Given the description of an element on the screen output the (x, y) to click on. 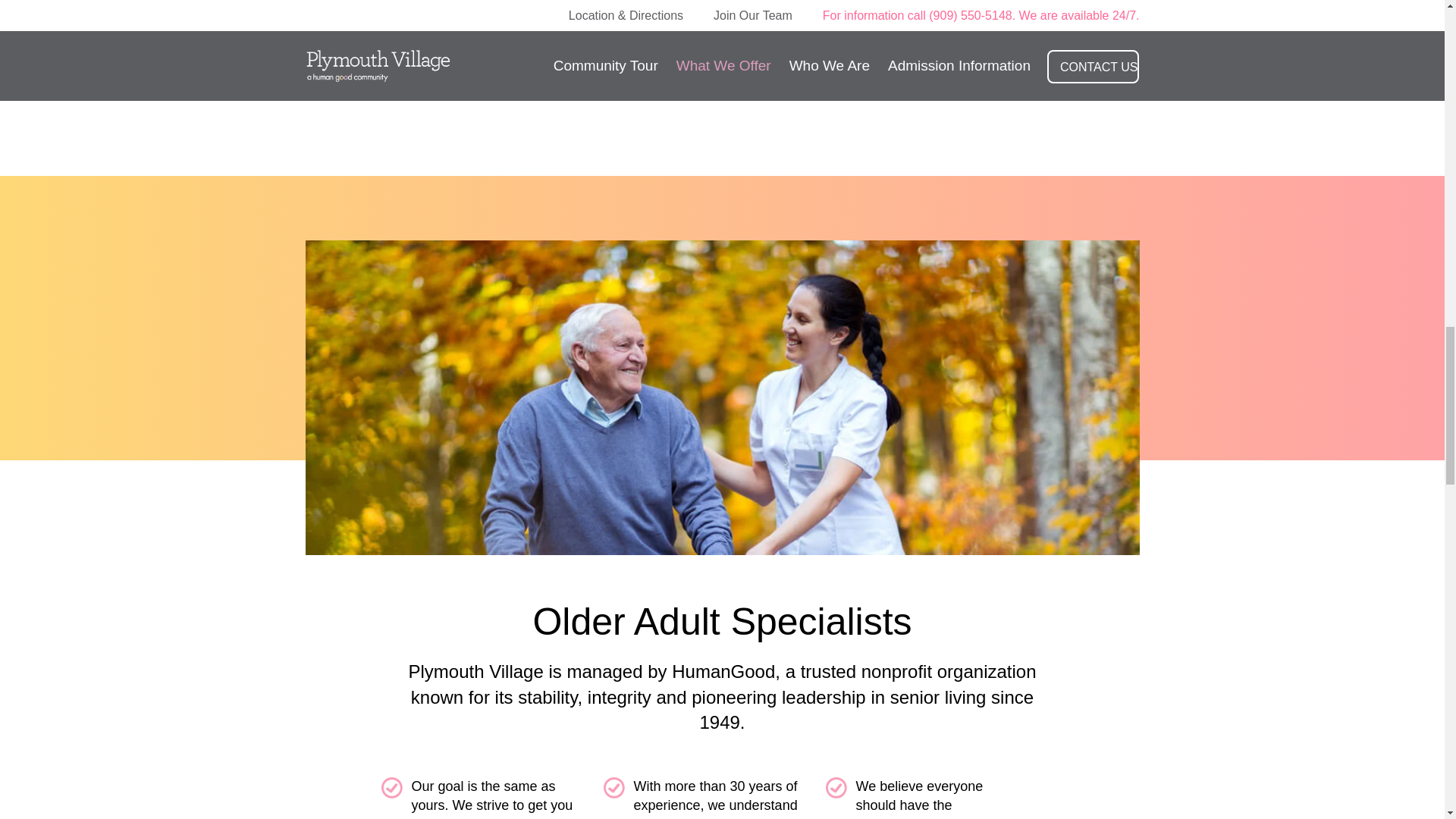
what-we-offer-3 (538, 21)
